Given the description of an element on the screen output the (x, y) to click on. 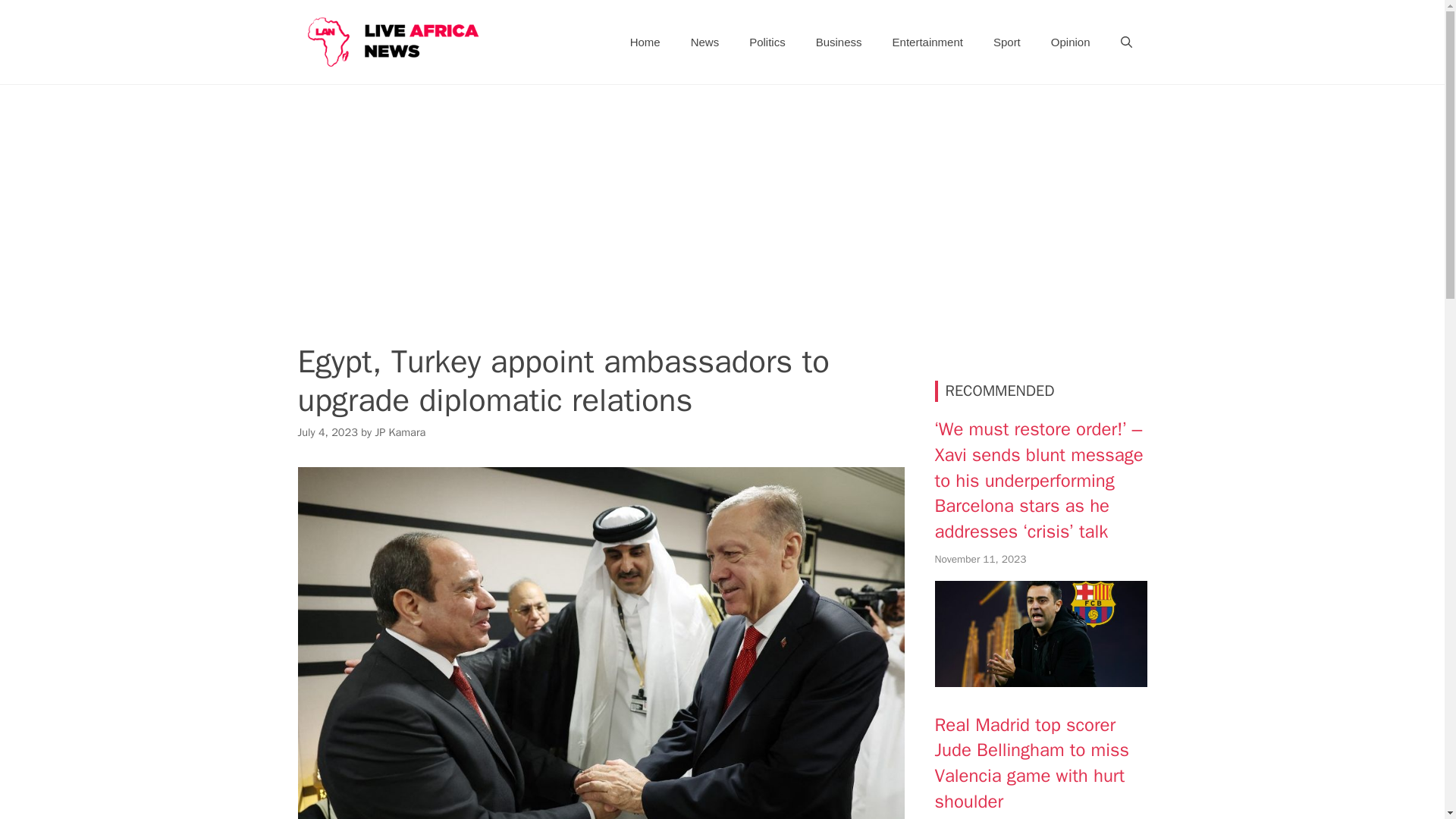
Politics (766, 42)
Entertainment (927, 42)
Home (644, 42)
JP Kamara (399, 431)
View all posts by JP Kamara (399, 431)
News (705, 42)
Business (838, 42)
Sport (1006, 42)
Opinion (1070, 42)
6:23 pm (980, 558)
November 11, 2023 (980, 558)
